Given the description of an element on the screen output the (x, y) to click on. 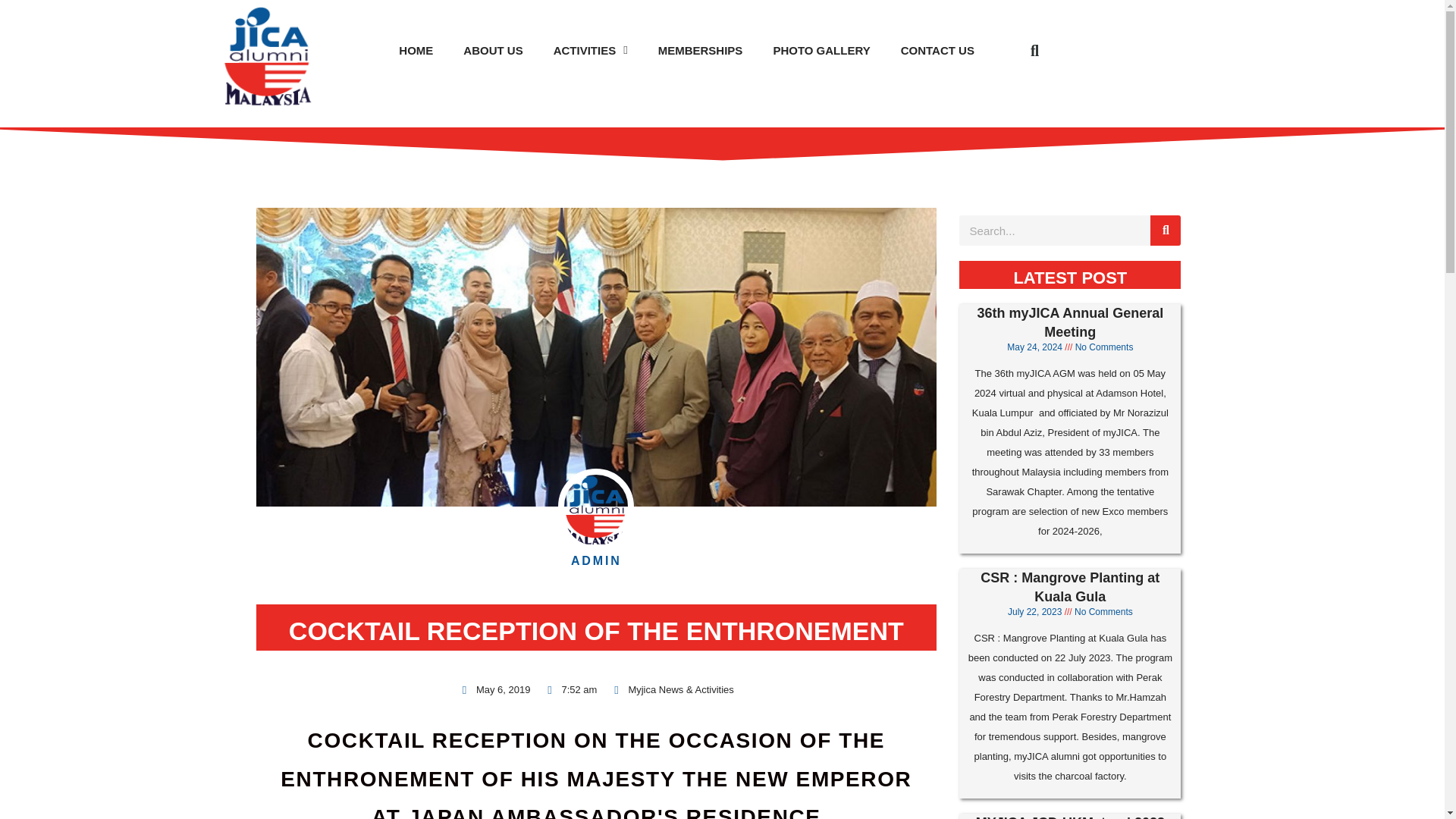
CONTACT US (937, 51)
ABOUT US (492, 51)
HOME (416, 51)
Search (1165, 230)
ACTIVITIES (590, 51)
MEMBERSHIPS (700, 51)
PHOTO GALLERY (821, 51)
CSR : Mangrove Planting at Kuala Gula (1068, 587)
36th myJICA Annual General Meeting (1069, 322)
